Given the description of an element on the screen output the (x, y) to click on. 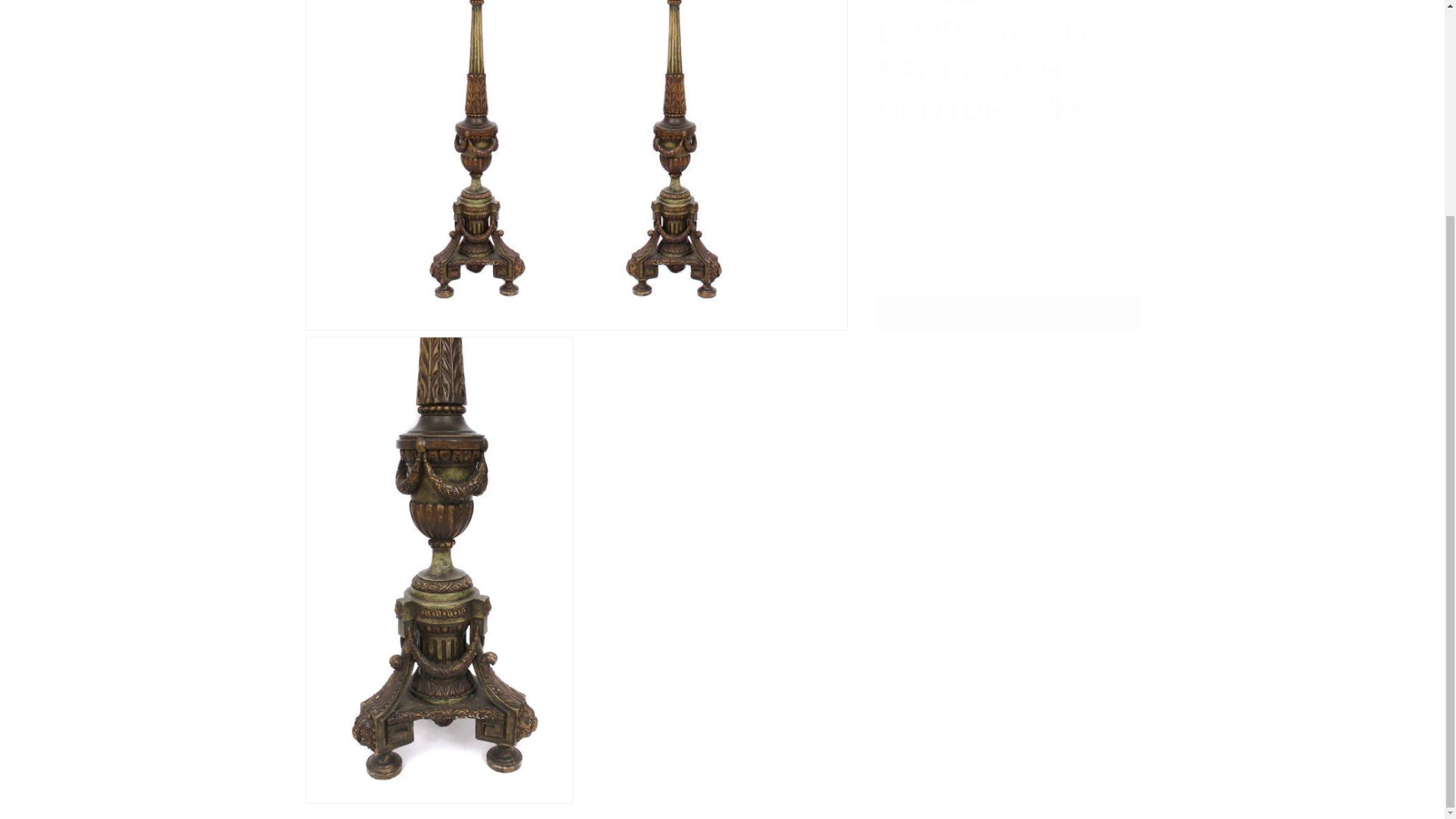
1 (931, 117)
Add to cart (1008, 172)
Buy it now (1008, 217)
